Given the description of an element on the screen output the (x, y) to click on. 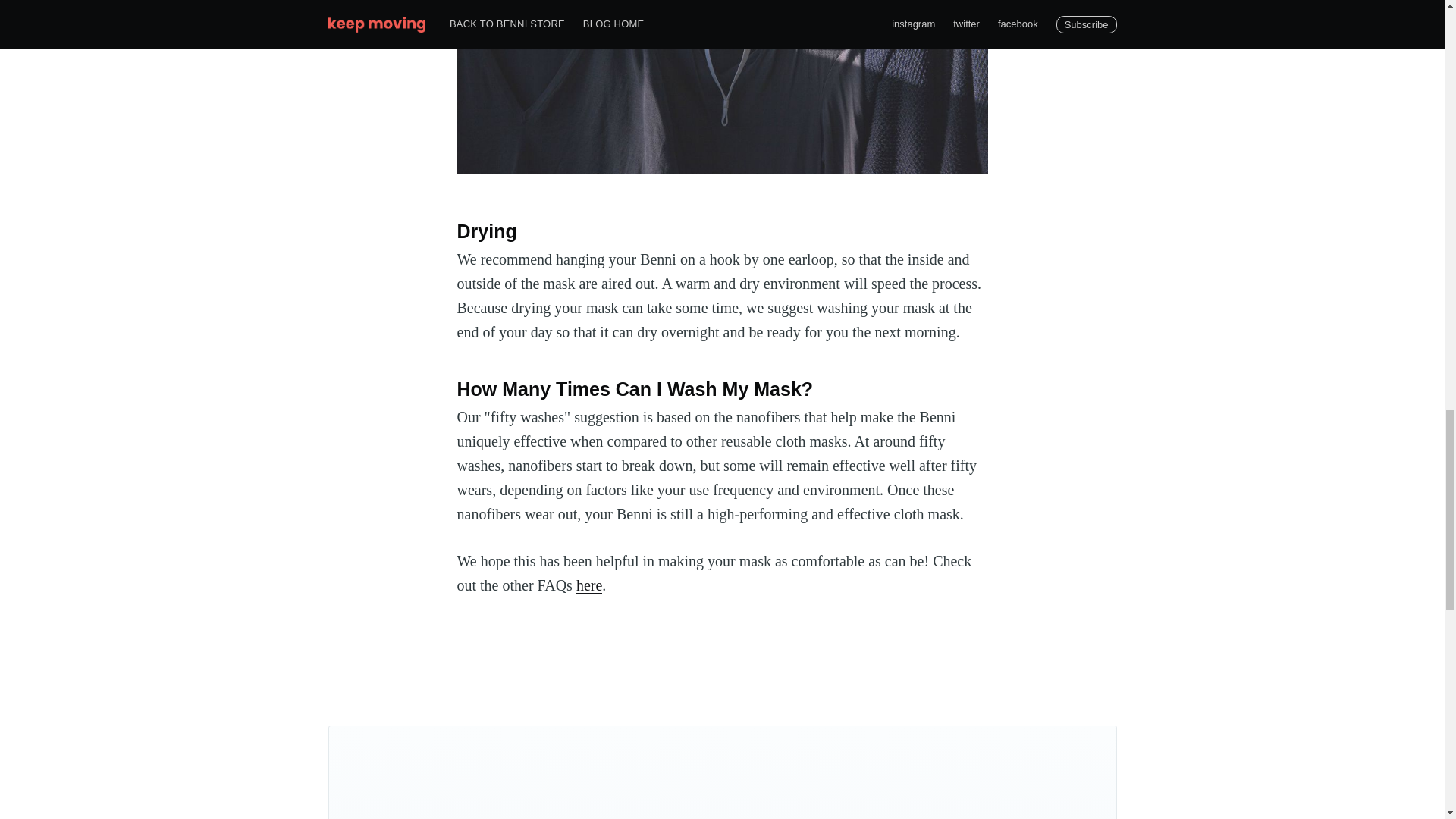
here (589, 585)
